Given the description of an element on the screen output the (x, y) to click on. 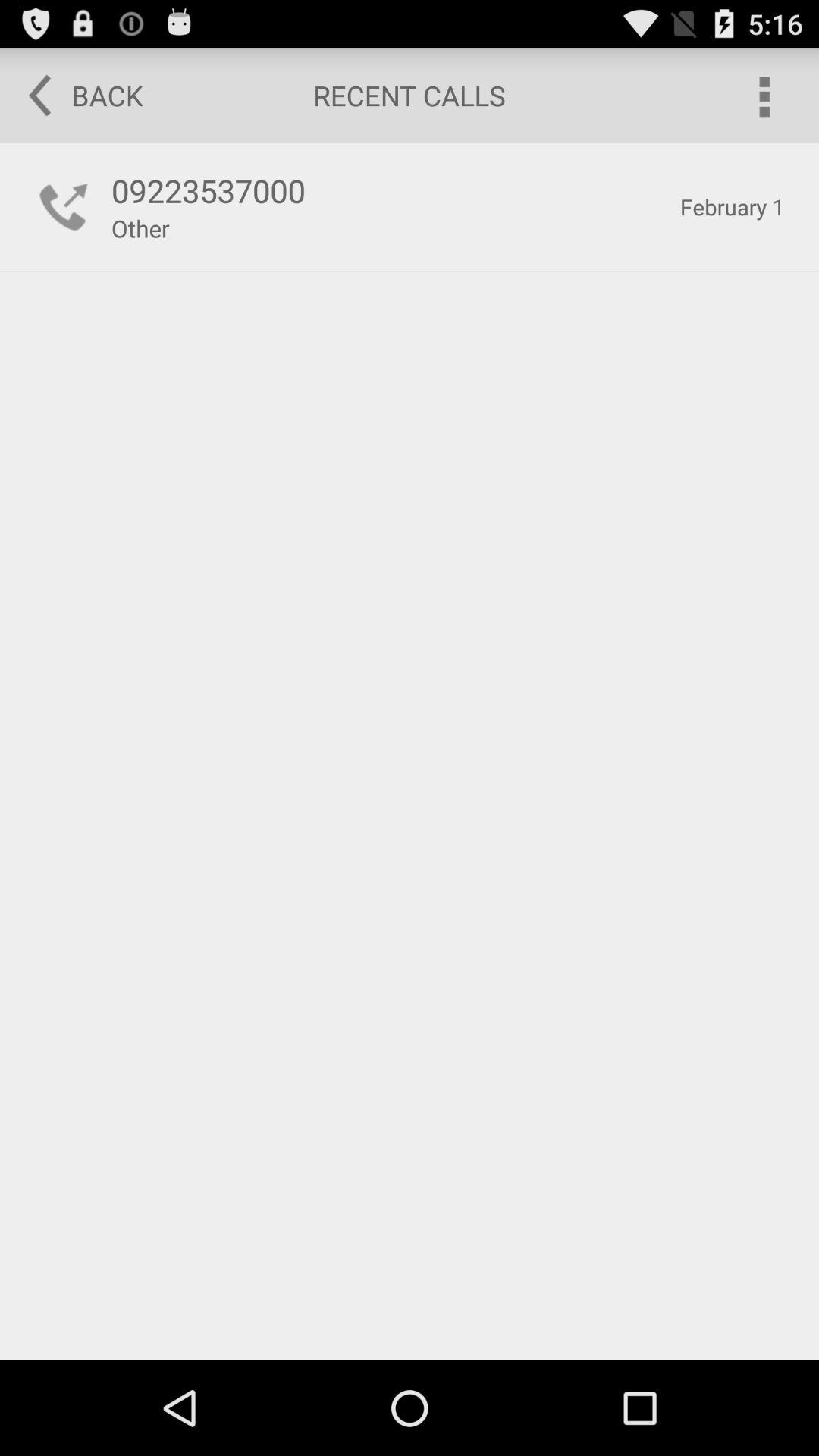
tap the 09223537000 item (387, 190)
